Given the description of an element on the screen output the (x, y) to click on. 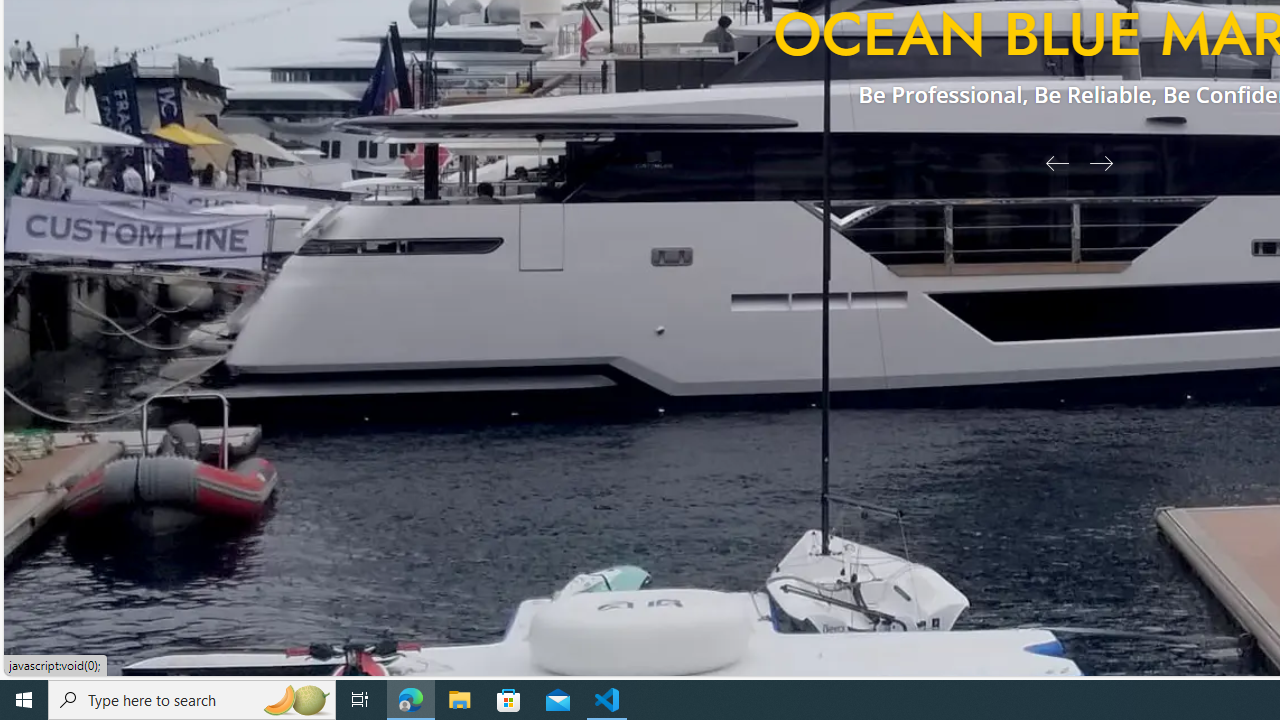
Previous Slide (1050, 161)
Next Slide (1108, 161)
